Given the description of an element on the screen output the (x, y) to click on. 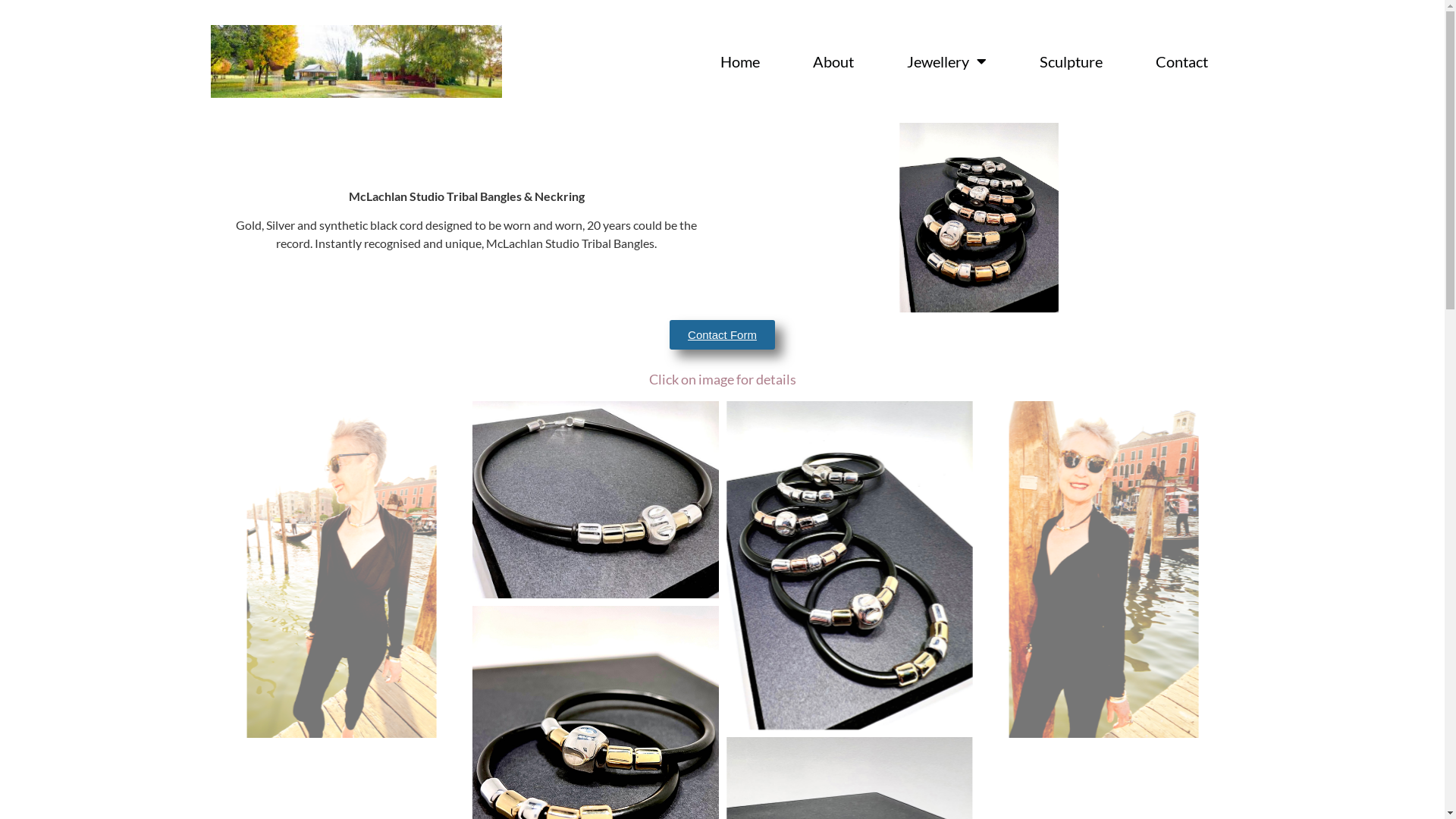
Jewellery Element type: text (945, 60)
About Element type: text (832, 60)
Sculpture Element type: text (1071, 60)
Home Element type: text (739, 60)
Contact Form Element type: text (722, 334)
Contact Element type: text (1180, 60)
McLachlan Studio Element type: hover (356, 61)
